Given the description of an element on the screen output the (x, y) to click on. 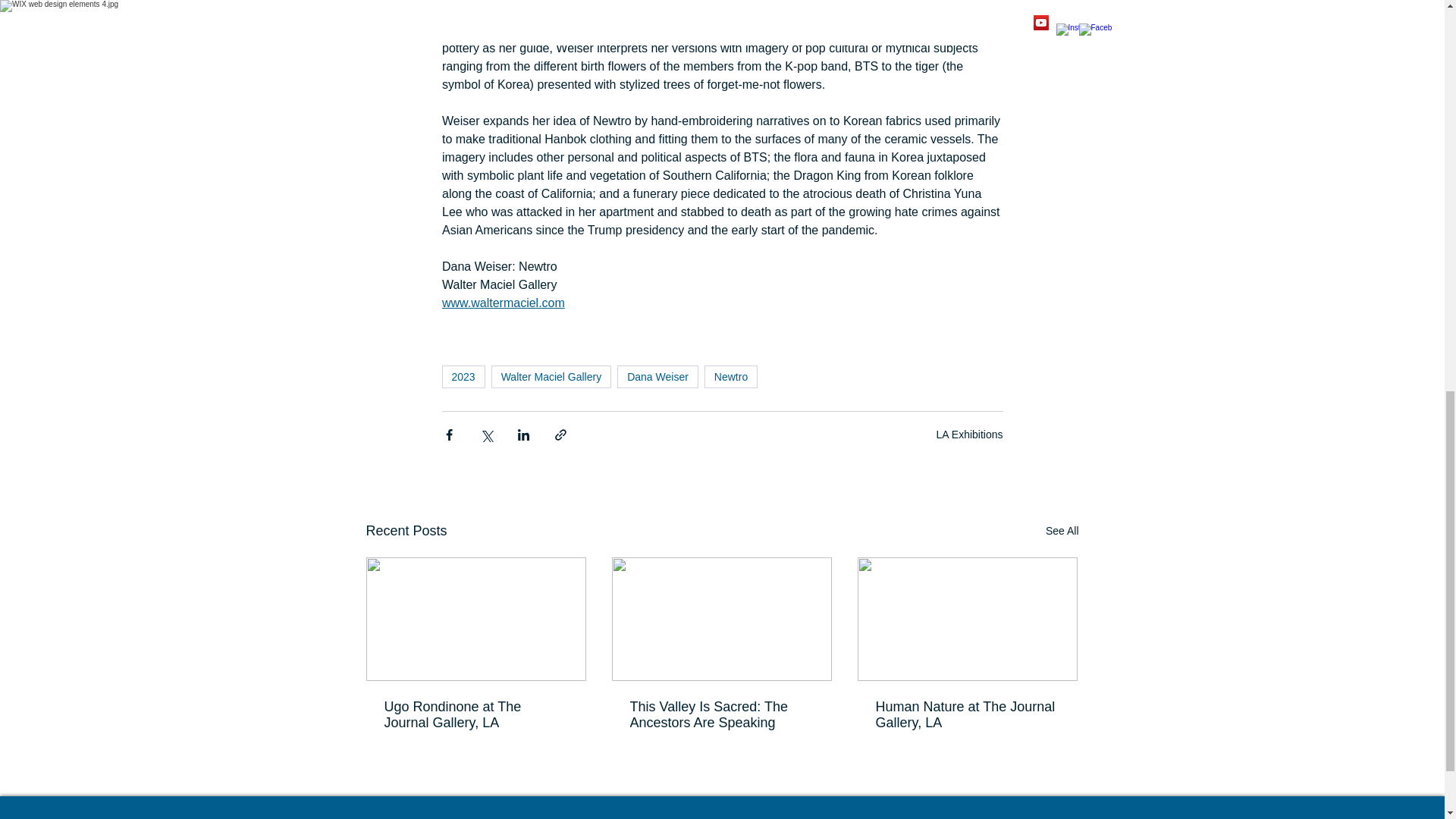
See All (1061, 531)
LA Exhibitions (969, 434)
This Valley Is Sacred: The Ancestors Are Speaking (720, 715)
Dana Weiser (657, 376)
2023 (462, 376)
Ugo Rondinone at The Journal Gallery, LA (475, 715)
www.waltermaciel.com (502, 302)
Newtro (730, 376)
Walter Maciel Gallery (551, 376)
